Given the description of an element on the screen output the (x, y) to click on. 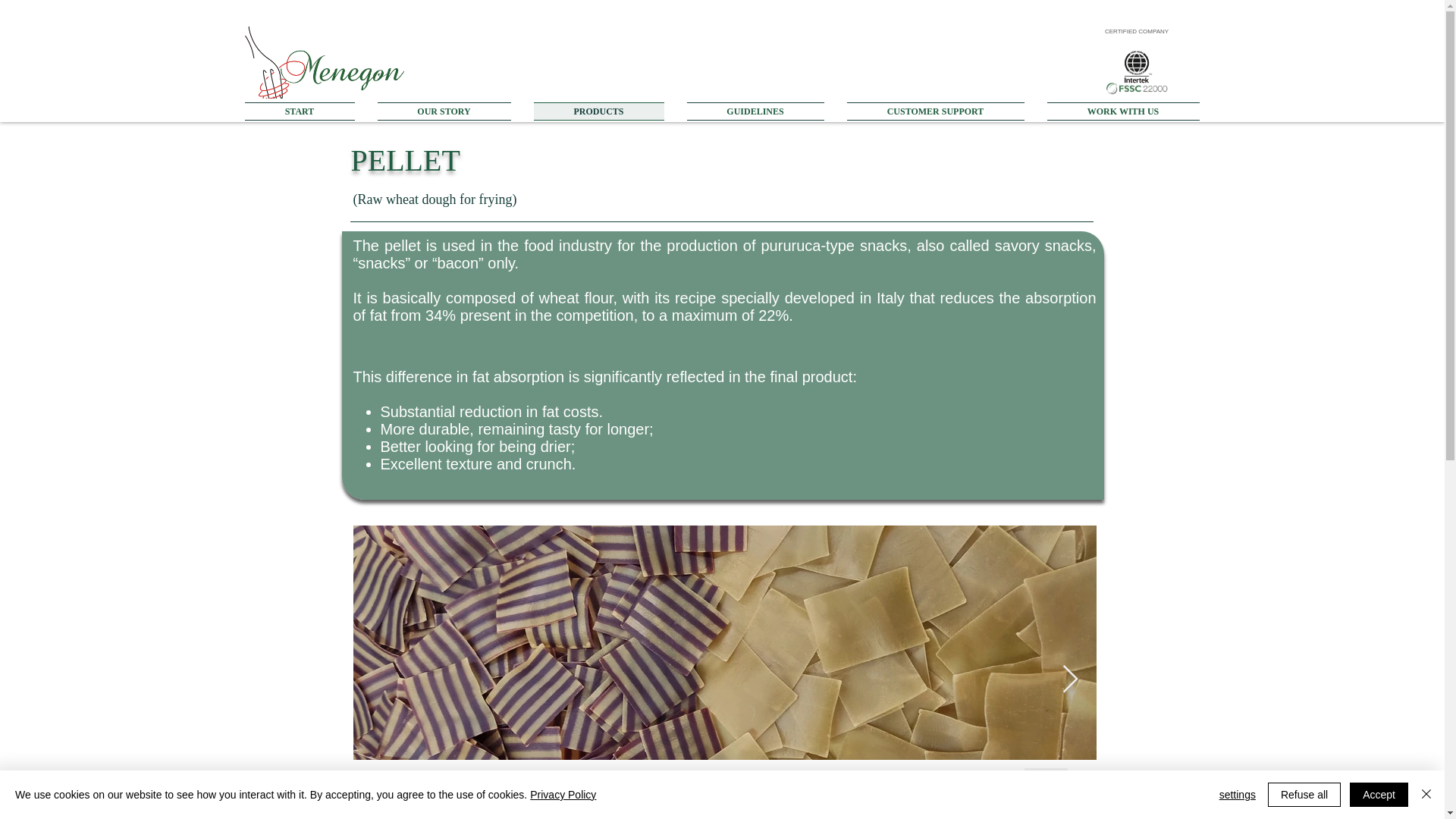
OUR STORY (443, 111)
GUIDELINES (754, 111)
Privacy Policy (562, 794)
CUSTOMER SUPPORT (935, 111)
START (304, 111)
Accept (1378, 794)
WORK WITH US (1117, 111)
PRODUCTS (598, 111)
Refuse all (1304, 794)
